Given the description of an element on the screen output the (x, y) to click on. 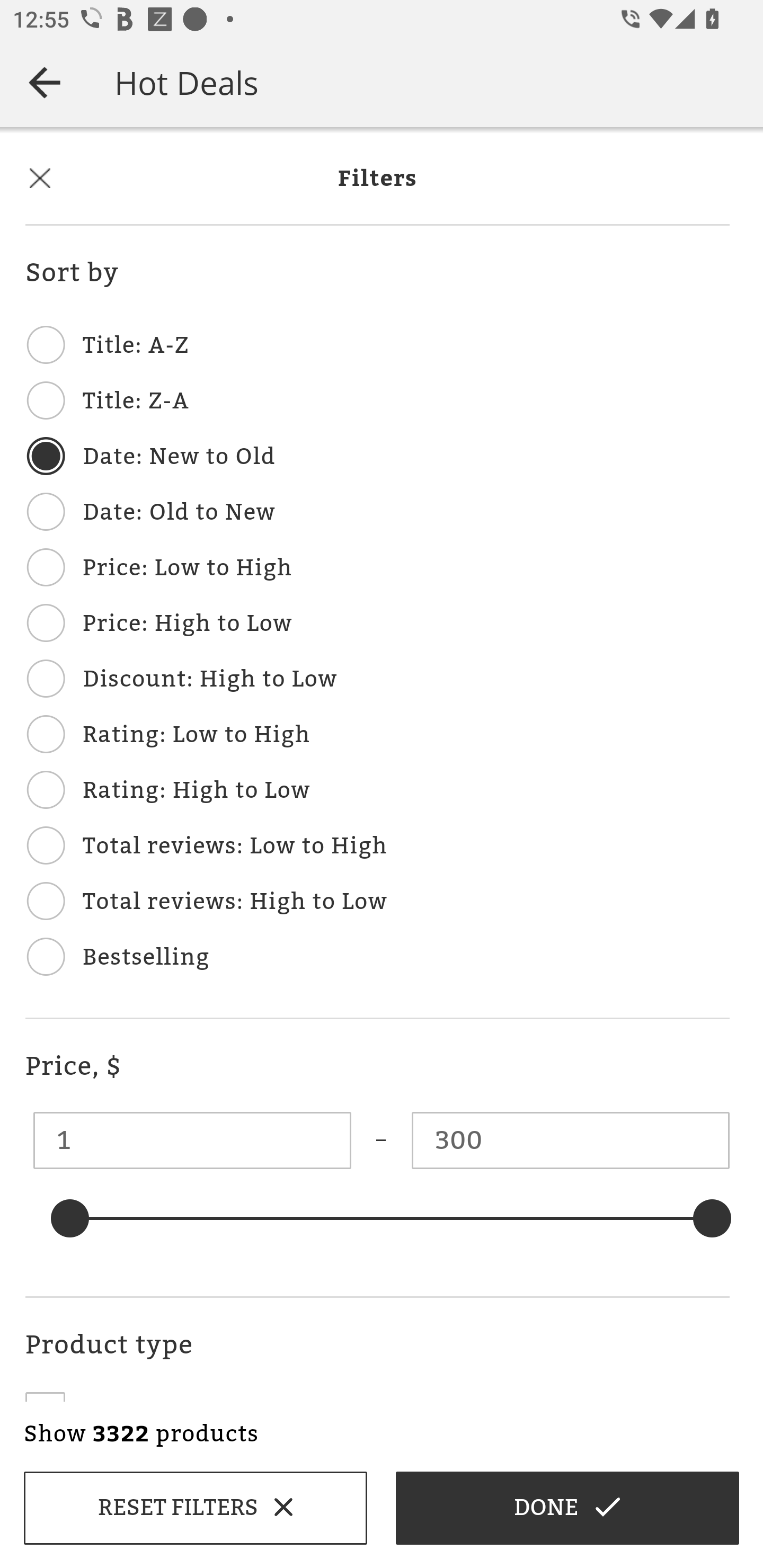
Navigate up (44, 82)
Title: A-Z (377, 346)
Title: Z-A (377, 402)
Date: New to Old (377, 457)
Date: Old to New (377, 513)
Price: Low to High (377, 568)
Price: High to Low (377, 624)
Discount: High to Low (377, 680)
Rating: Low to High (377, 736)
Rating: High to Low (377, 791)
Total reviews: Low to High (377, 846)
Total reviews: High to Low (377, 902)
Bestselling (377, 957)
1, Min (191, 1139)
300, Max (570, 1139)
RESET FILTERS (195, 1508)
DONE (567, 1508)
